Given the description of an element on the screen output the (x, y) to click on. 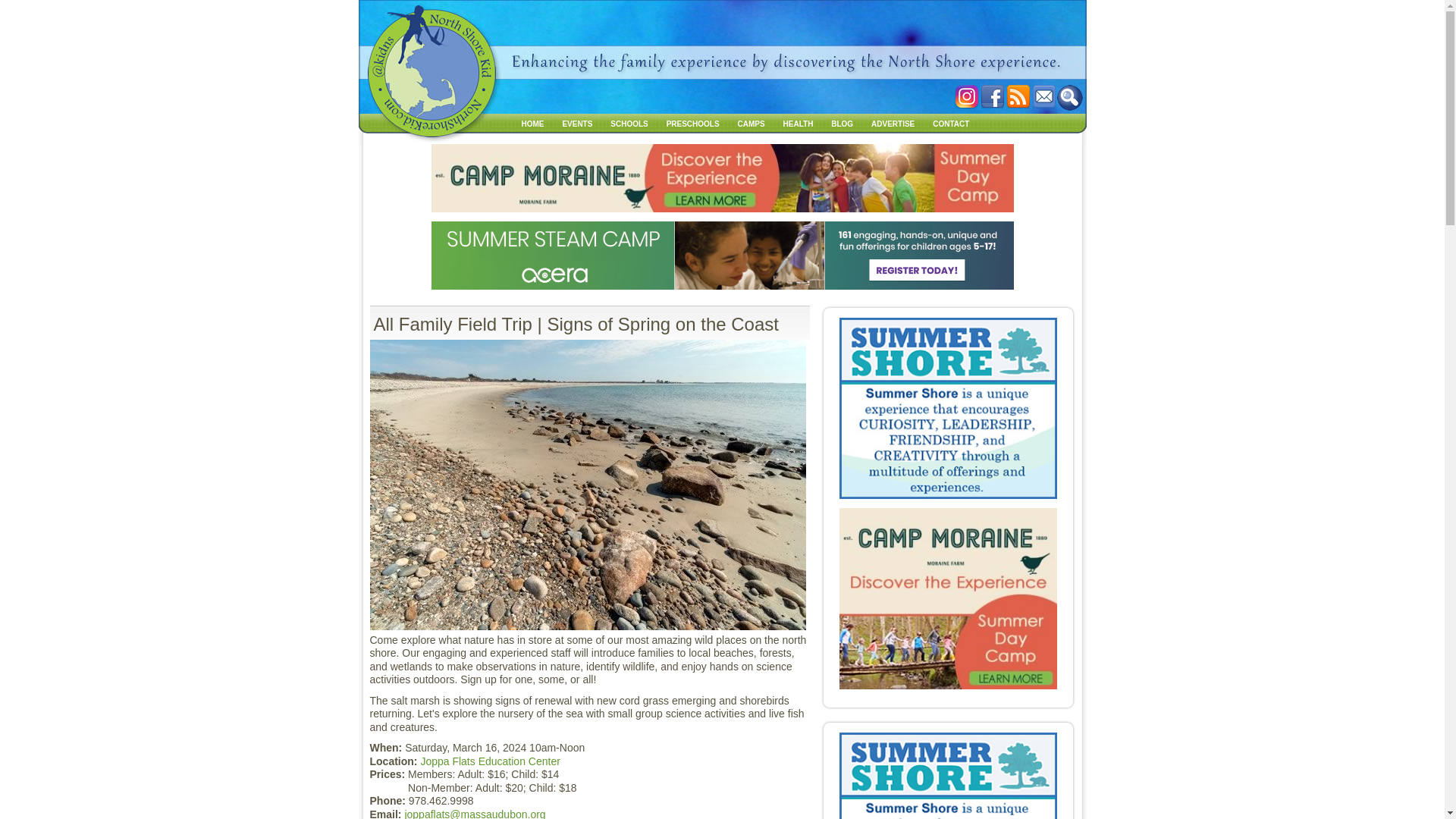
North Shore Kid (532, 123)
HEALTH (798, 123)
Search North Shore Kid (1070, 97)
EVENTS (577, 123)
CAMPS (751, 123)
HOME (532, 123)
SCHOOLS (628, 123)
